Given the description of an element on the screen output the (x, y) to click on. 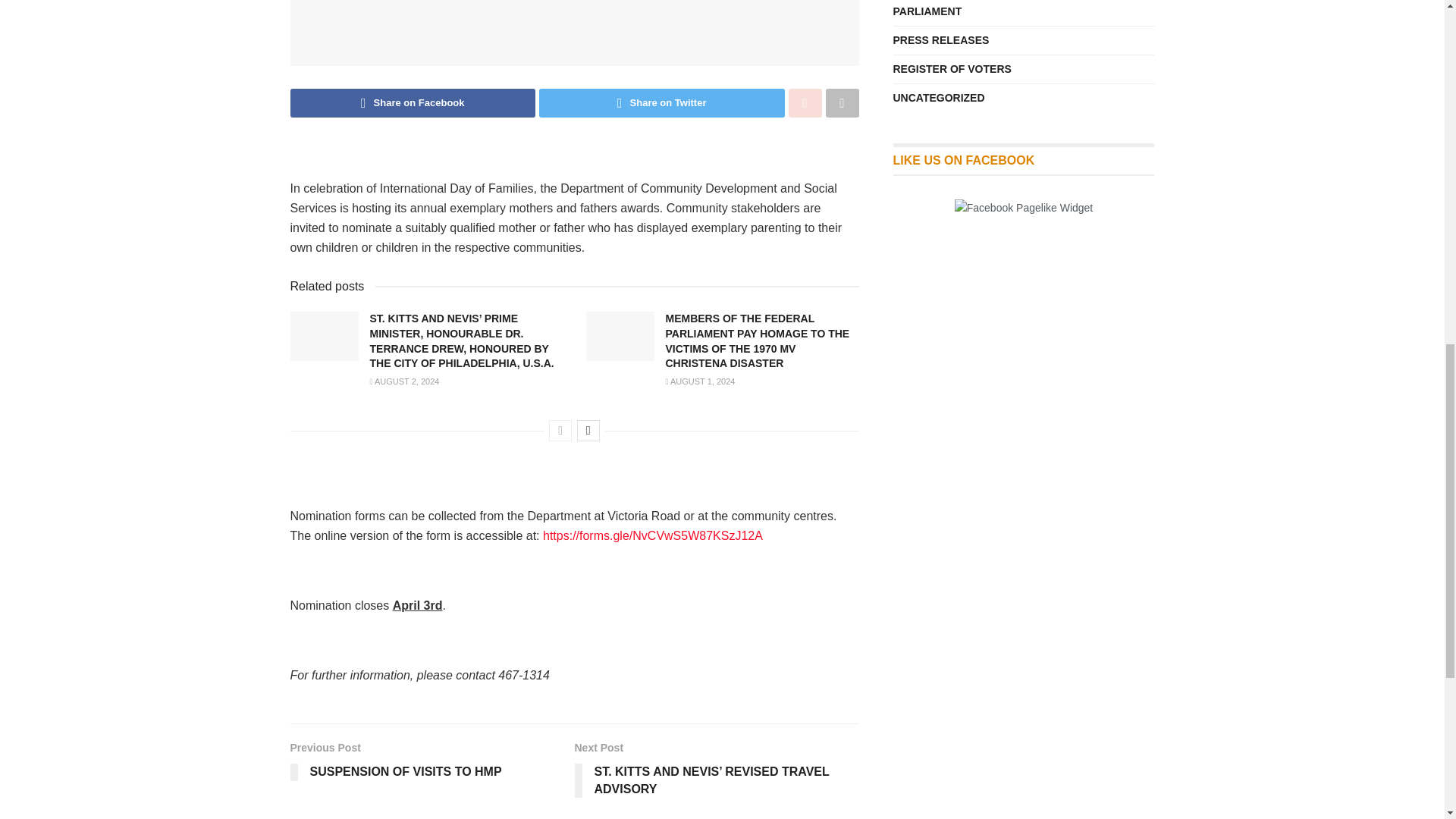
AUGUST 1, 2024 (700, 380)
Share on Twitter (661, 102)
Next (587, 430)
Previous (560, 430)
AUGUST 2, 2024 (404, 380)
Share on Facebook (412, 102)
